Given the description of an element on the screen output the (x, y) to click on. 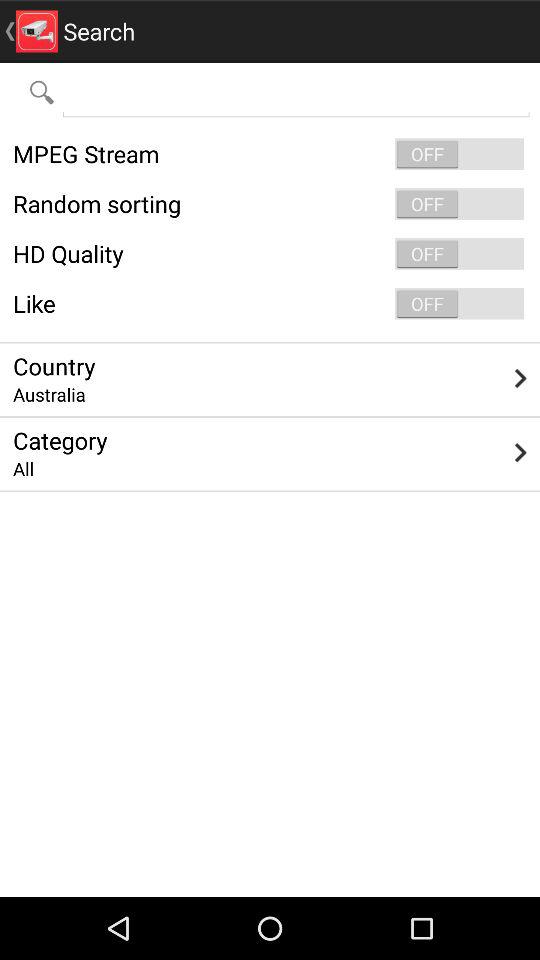
select the random sorting icon (269, 203)
